Given the description of an element on the screen output the (x, y) to click on. 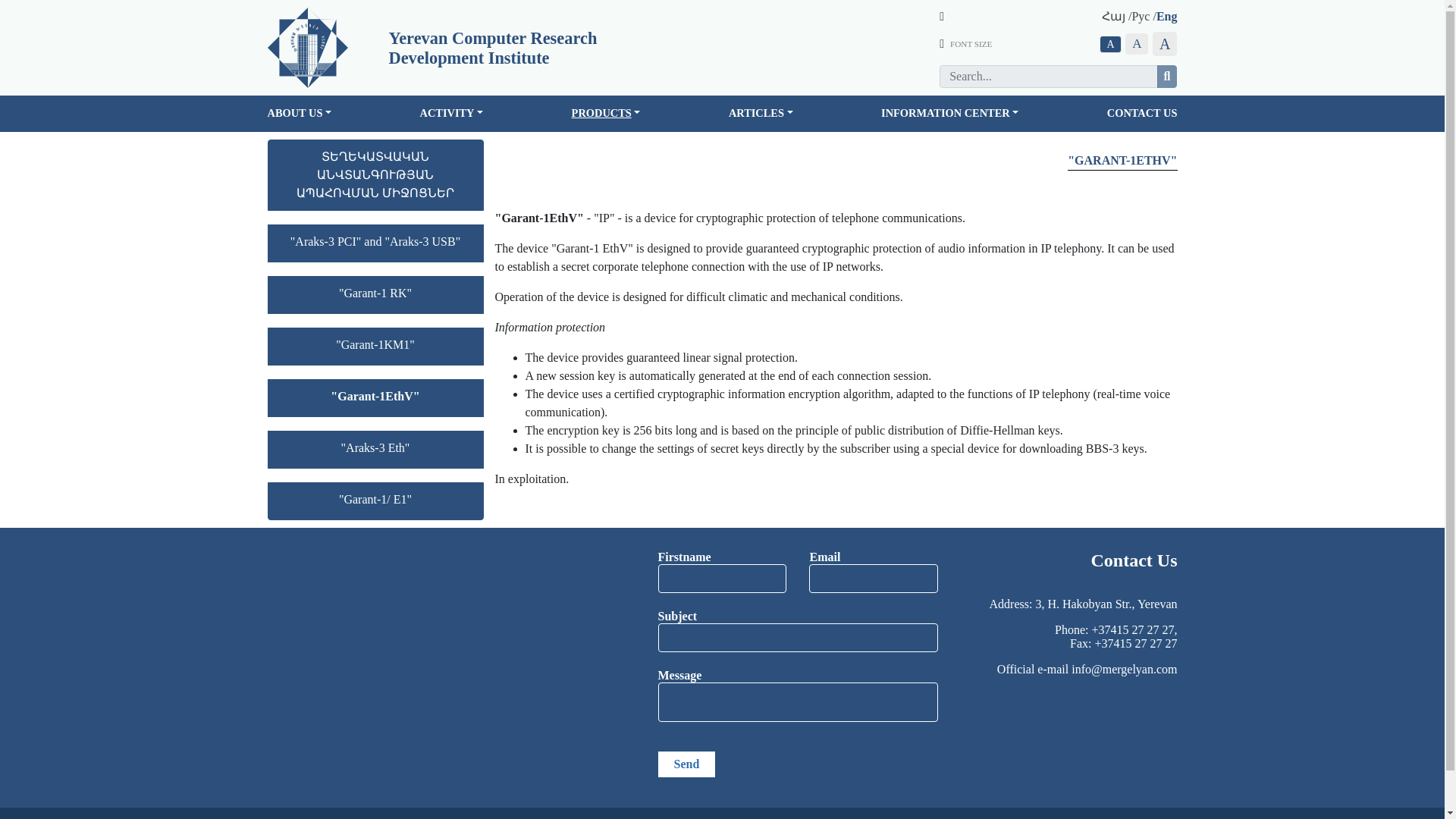
Eng (1166, 15)
ACTIVITY (451, 113)
A (1164, 43)
Eng (1166, 15)
ABOUT US (298, 113)
A (1136, 43)
CONTACT US (1141, 113)
Main (306, 47)
A (1110, 44)
PRODUCTS (606, 113)
